Given the description of an element on the screen output the (x, y) to click on. 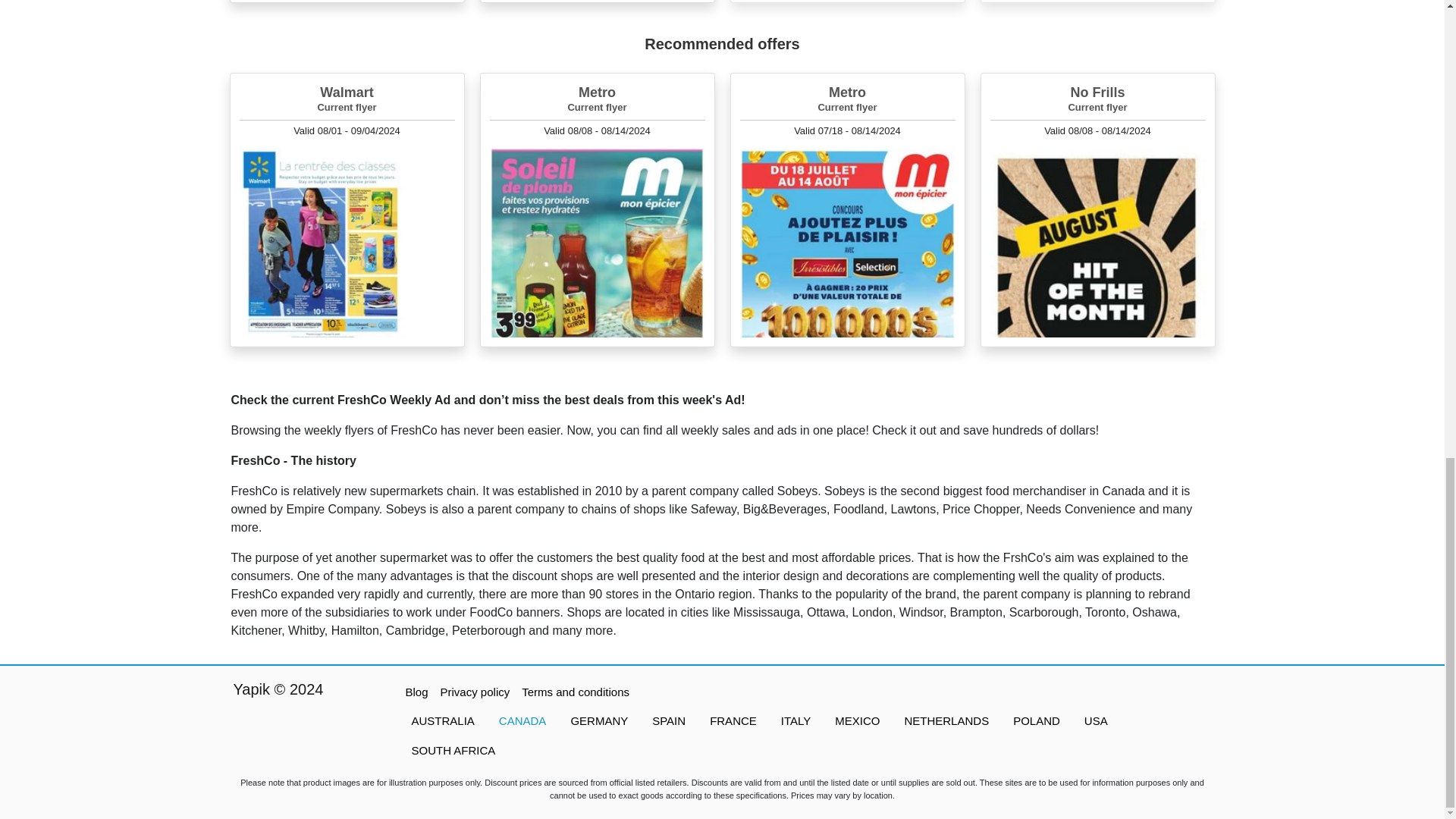
Mexico (856, 721)
USA (1095, 721)
Italy (795, 721)
Netherlands (946, 721)
Spain (668, 721)
Poland (1036, 721)
Australia (442, 721)
Germany (598, 721)
Canada (522, 721)
South Africa (452, 749)
